Given the description of an element on the screen output the (x, y) to click on. 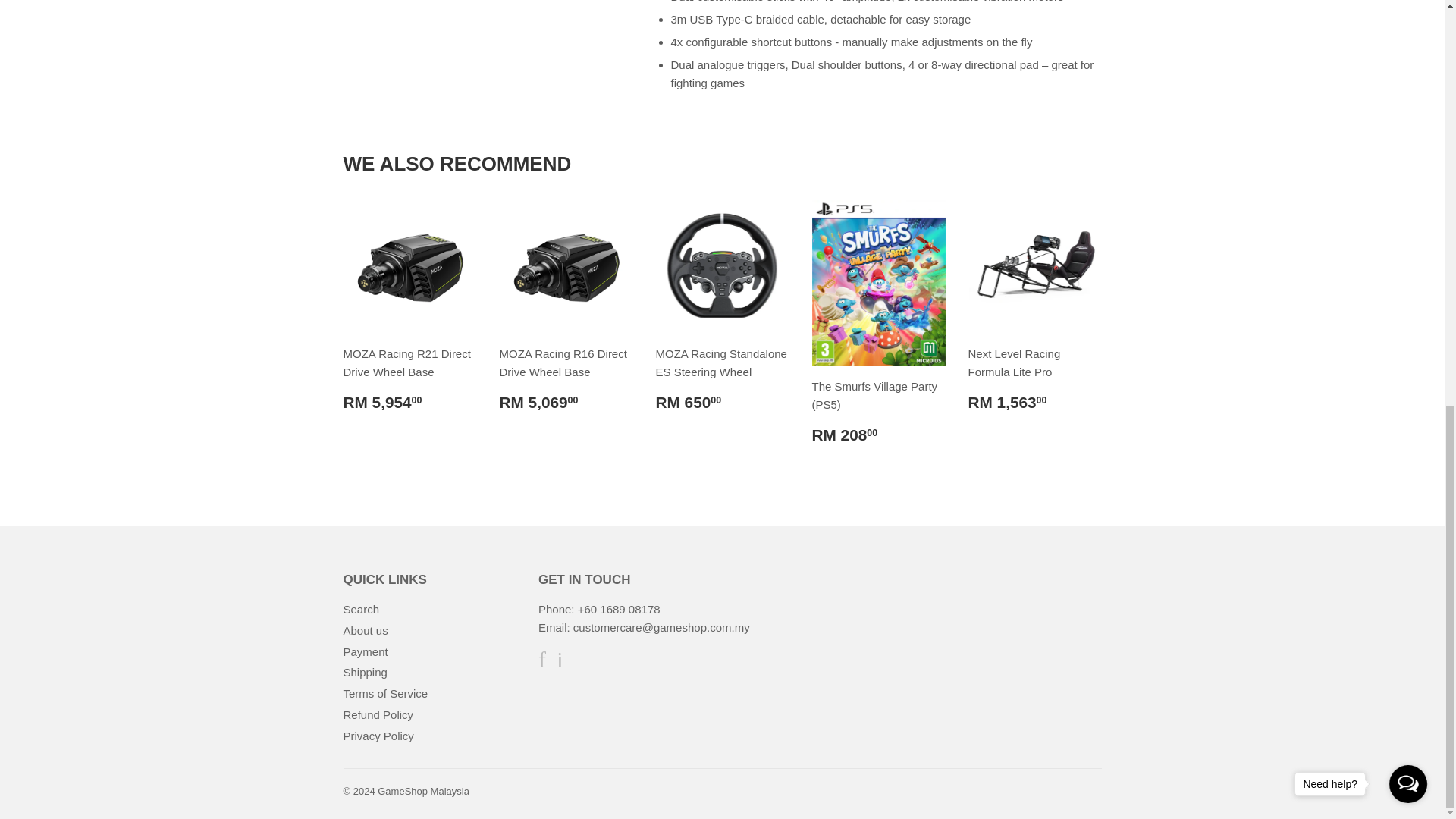
Terms of Service (385, 693)
Search (360, 608)
GameShop Malaysia (422, 790)
Privacy Policy (377, 735)
Shipping (364, 671)
About us (364, 630)
Refund Policy (377, 714)
Payment (364, 651)
